Given the description of an element on the screen output the (x, y) to click on. 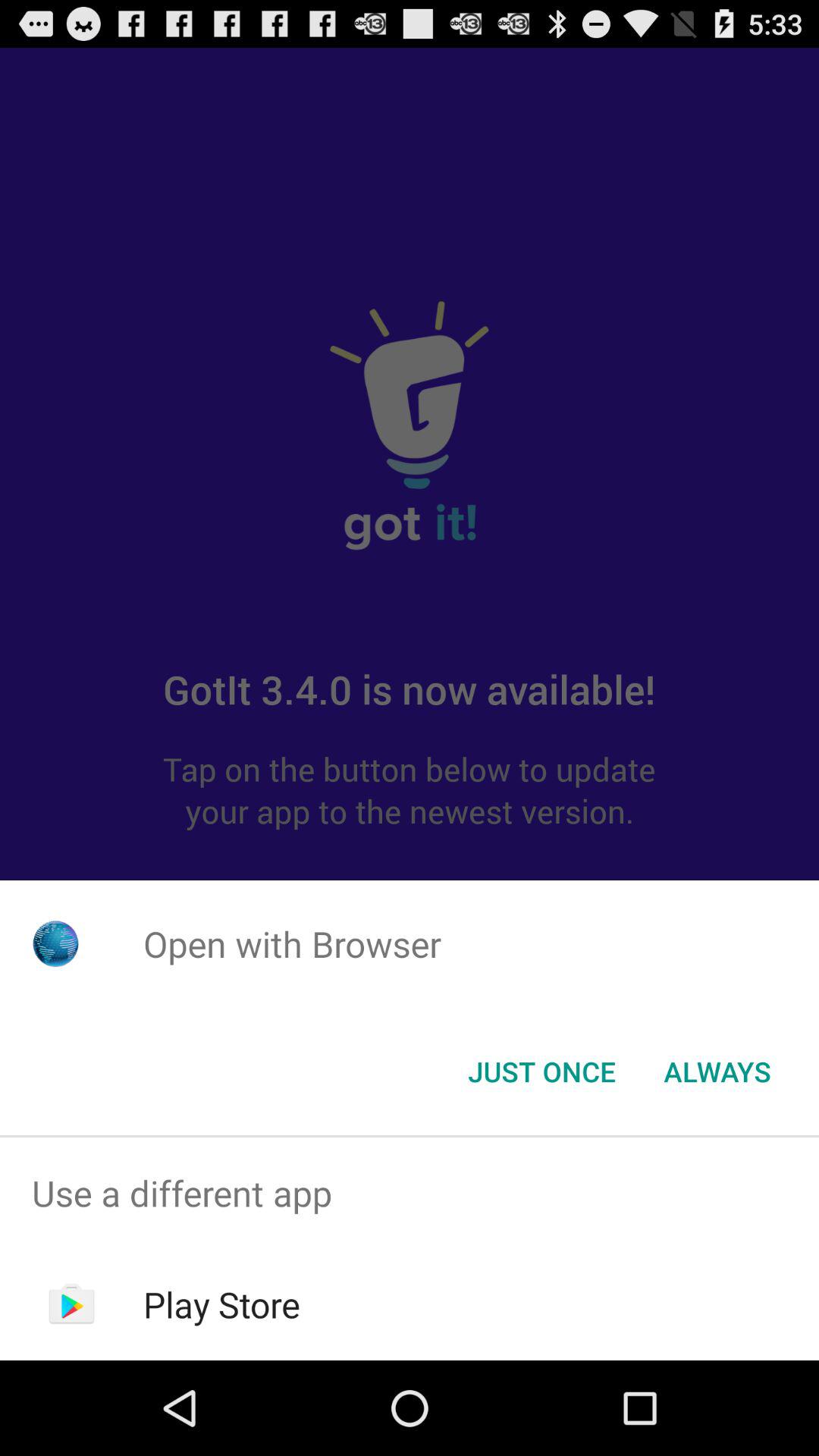
press button next to the just once icon (717, 1071)
